Given the description of an element on the screen output the (x, y) to click on. 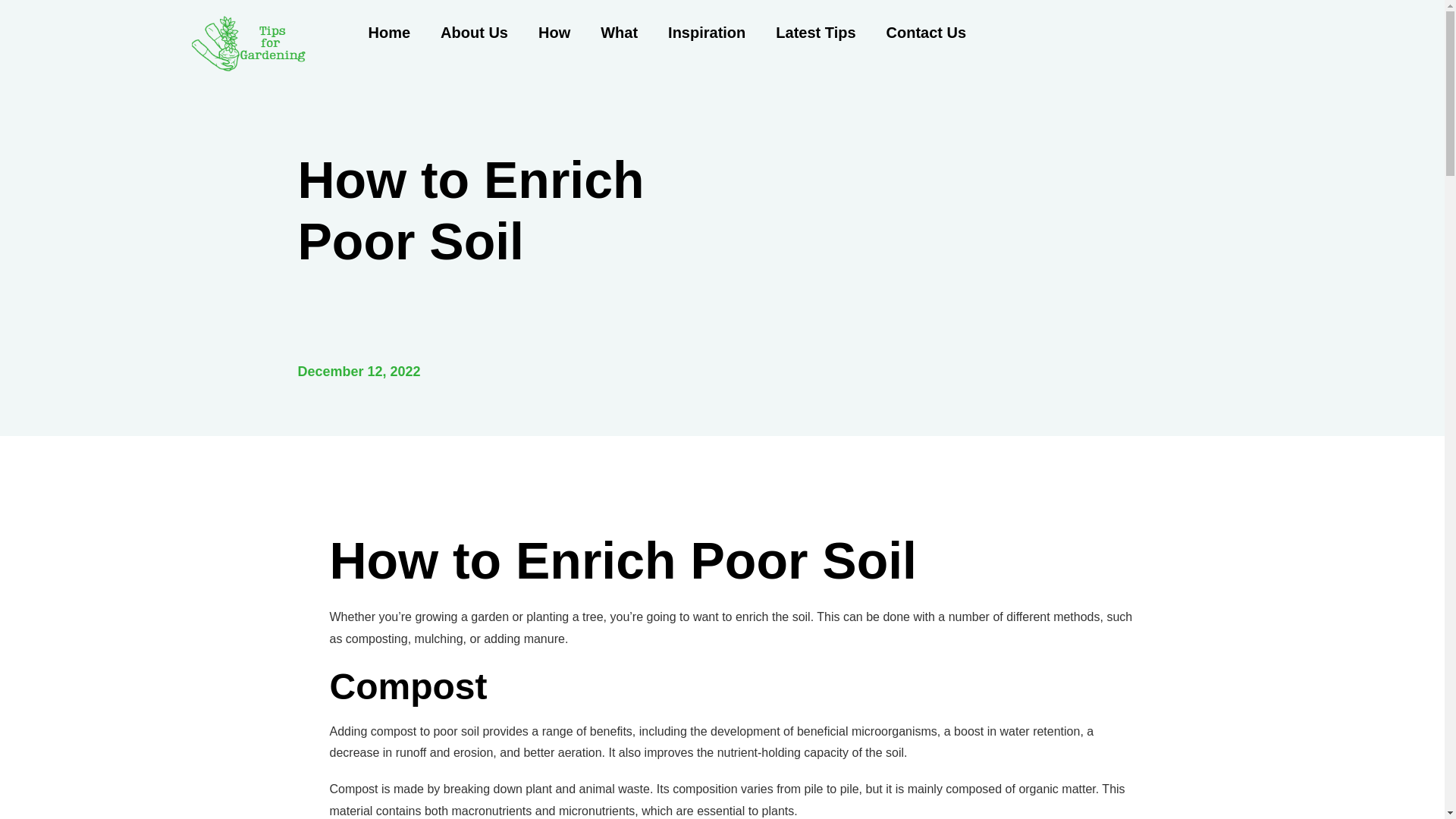
December 12, 2022 (358, 371)
About Us (473, 32)
How (553, 32)
Latest Tips (815, 32)
Home (389, 32)
Contact Us (925, 32)
Inspiration (706, 32)
What (618, 32)
